Given the description of an element on the screen output the (x, y) to click on. 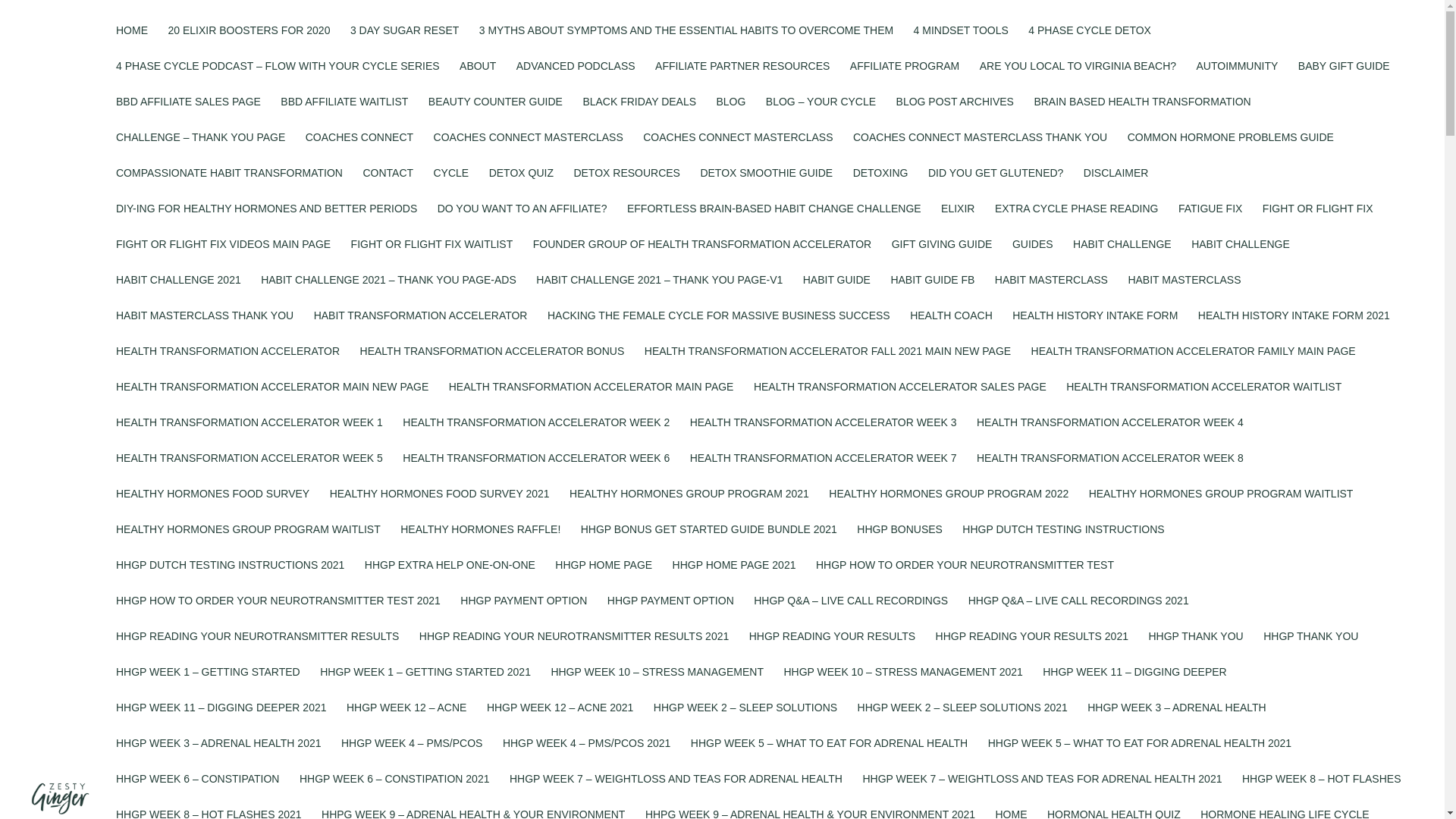
BBD AFFILIATE WAITLIST (344, 113)
BBD AFFILIATE SALES PAGE (188, 113)
ADVANCED PODCLASS (575, 78)
COMMON HORMONE PROBLEMS GUIDE (1229, 149)
DETOX RESOURCES (626, 185)
3 DAY SUGAR RESET (404, 42)
DETOX QUIZ (521, 185)
BLOG POST ARCHIVES (954, 113)
BLACK FRIDAY DEALS (638, 113)
4 PHASE CYCLE DETOX (1089, 42)
20 ELIXIR BOOSTERS FOR 2020 (248, 42)
AFFILIATE PROGRAM (904, 78)
COACHES CONNECT (359, 149)
ARE YOU LOCAL TO VIRGINIA BEACH? (1077, 78)
COACHES CONNECT MASTERCLASS (528, 149)
